Given the description of an element on the screen output the (x, y) to click on. 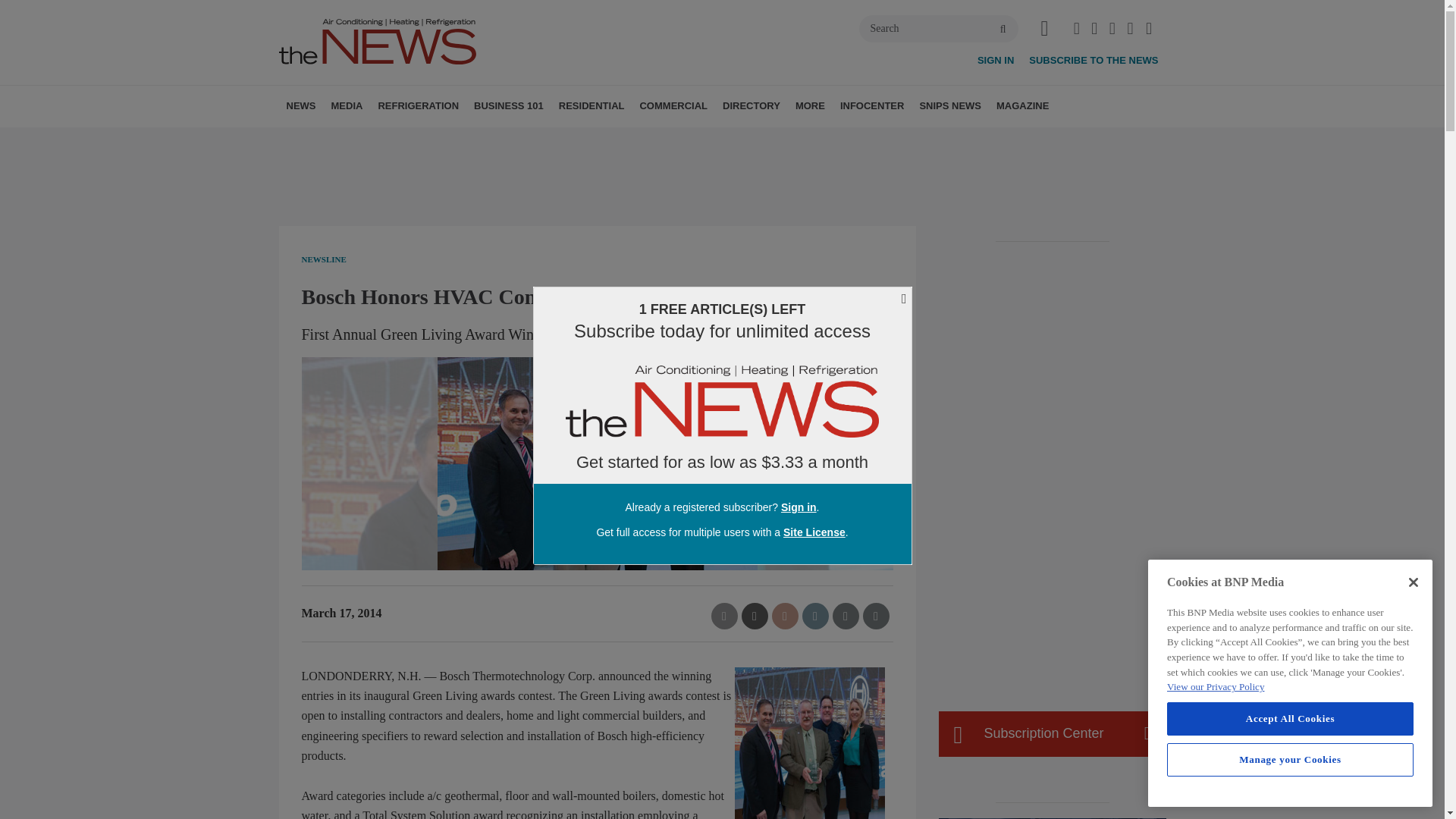
Search (938, 28)
Search (938, 28)
